Given the description of an element on the screen output the (x, y) to click on. 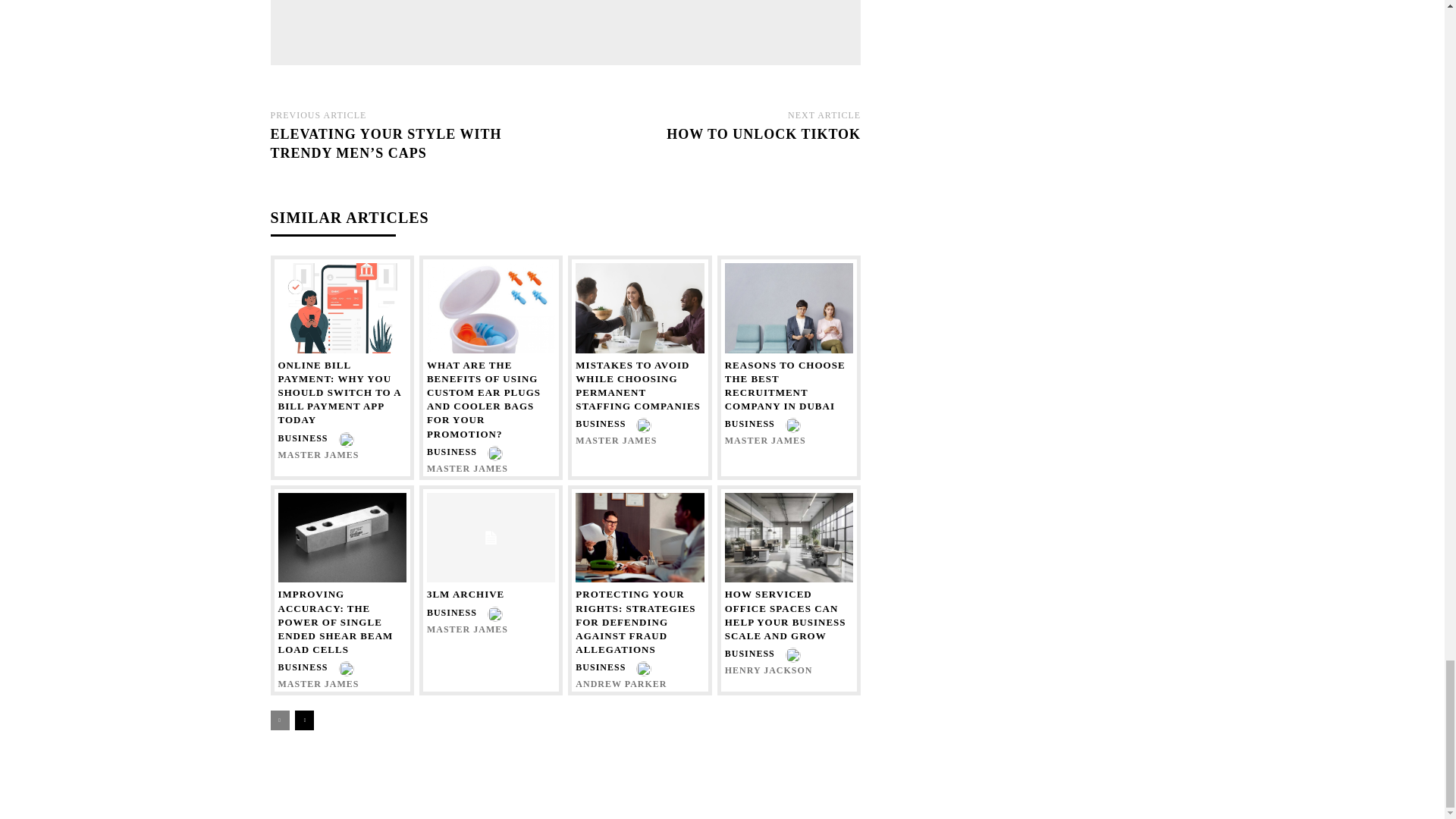
Master James (475, 24)
